Given the description of an element on the screen output the (x, y) to click on. 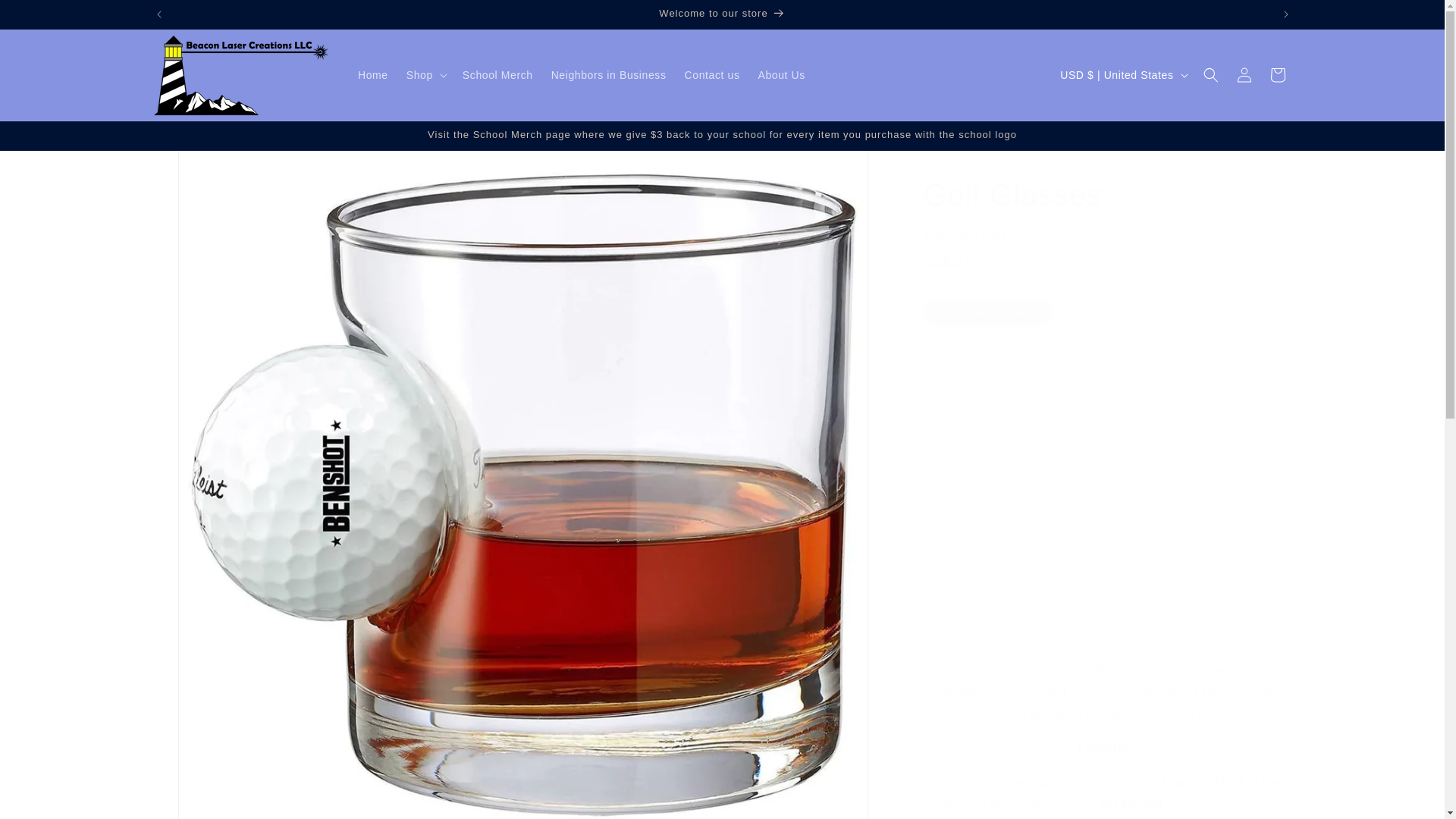
Home (373, 74)
Welcome to our store (722, 14)
Skip to content (45, 17)
1 (976, 444)
